Given the description of an element on the screen output the (x, y) to click on. 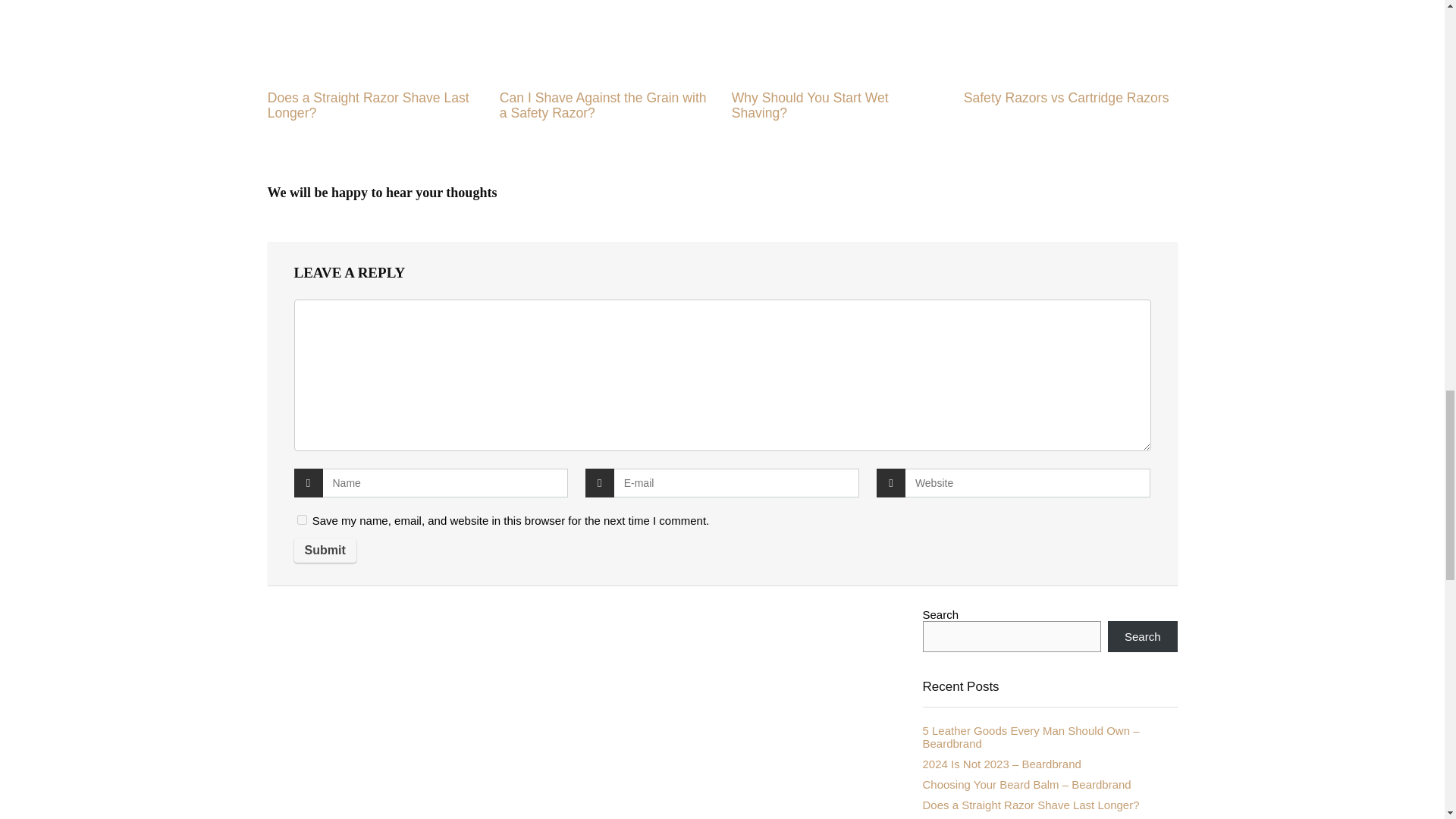
Does a Straight Razor Shave Last Longer? (367, 105)
Search (1142, 635)
Why Should You Start Wet Shaving? (810, 105)
yes (302, 519)
Submit (325, 550)
Safety Razors vs Cartridge Razors (1066, 97)
Submit (325, 550)
Can I Shave Against the Grain with a Safety Razor? (602, 105)
Does a Straight Razor Shave Last Longer? (1029, 804)
